Given the description of an element on the screen output the (x, y) to click on. 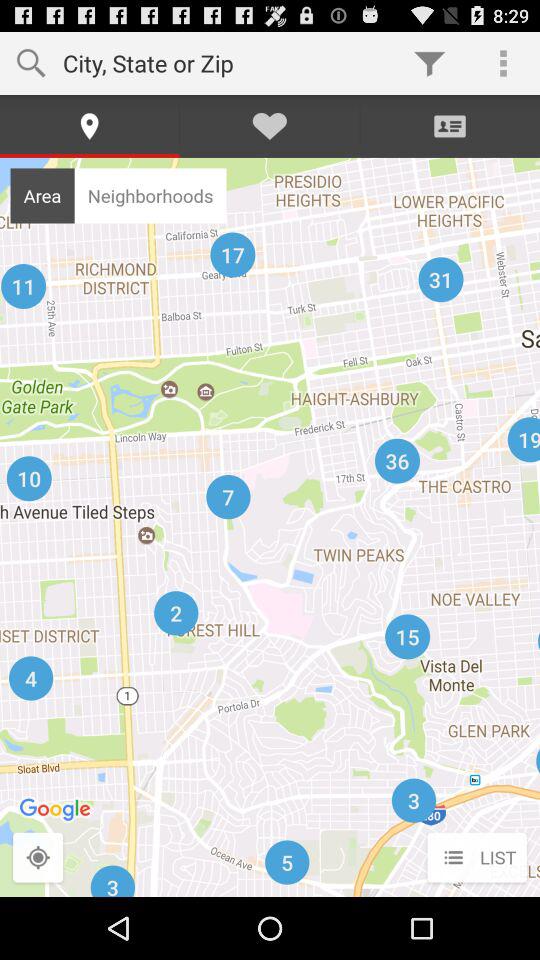
click the area icon (42, 195)
